Given the description of an element on the screen output the (x, y) to click on. 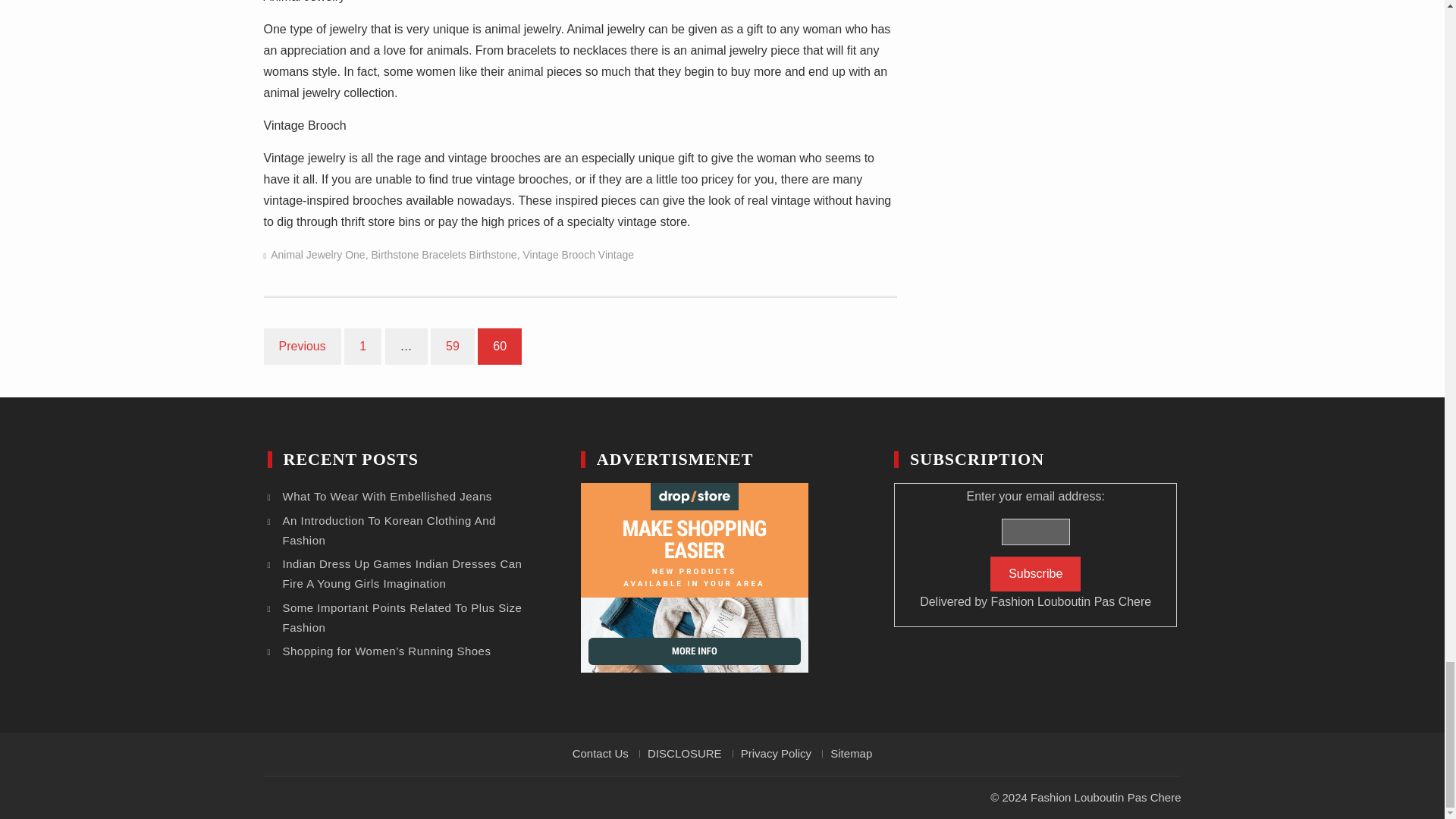
Subscribe (1035, 573)
